Given the description of an element on the screen output the (x, y) to click on. 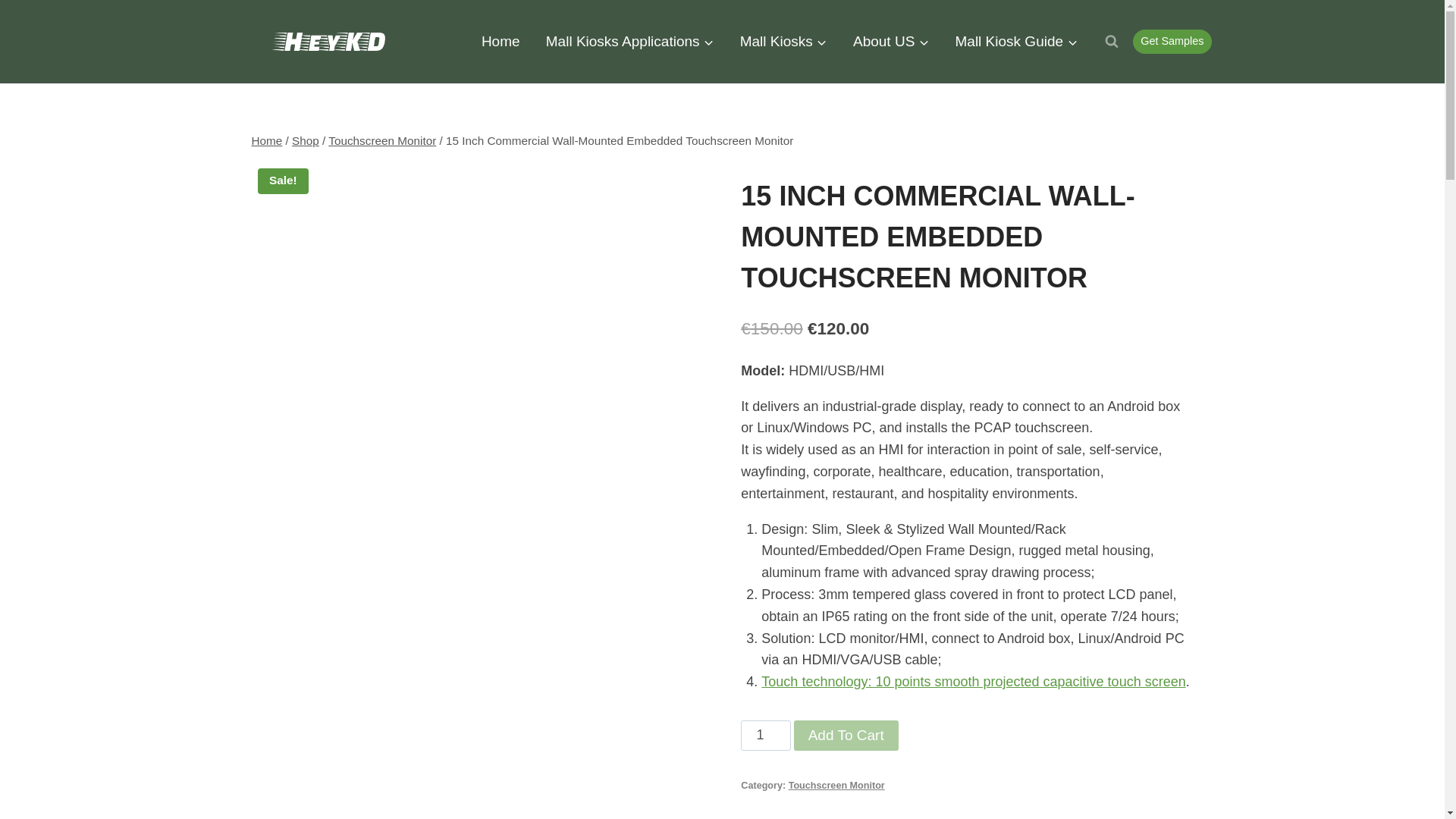
Mall Kiosks (783, 41)
Mall Kiosks Applications (629, 41)
Get Samples (1171, 41)
Mall Kiosk Guide (1016, 41)
Home (500, 41)
1 (765, 735)
Home (266, 140)
About US (891, 41)
